Given the description of an element on the screen output the (x, y) to click on. 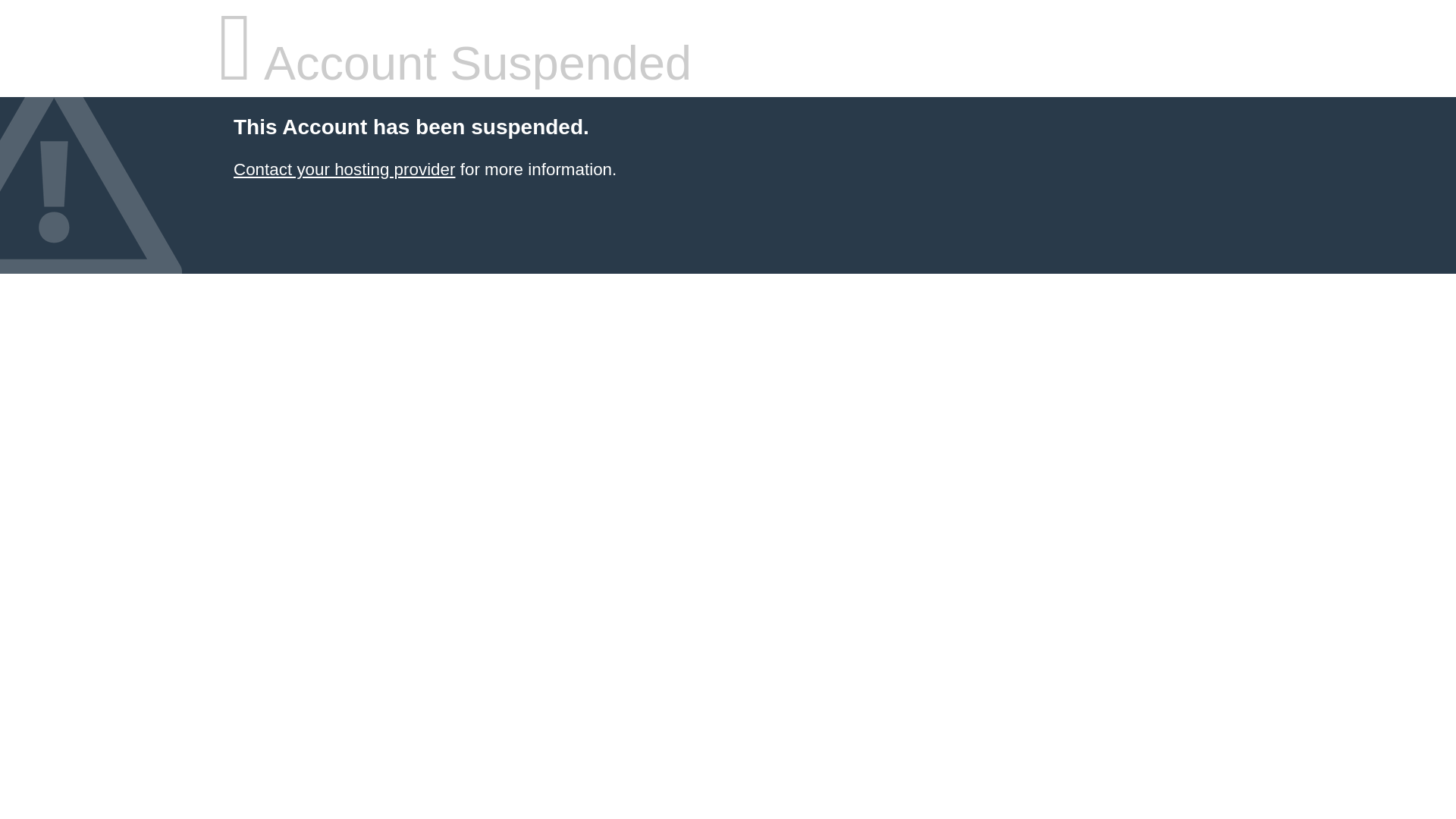
Contact your hosting provider Element type: text (344, 169)
